Given the description of an element on the screen output the (x, y) to click on. 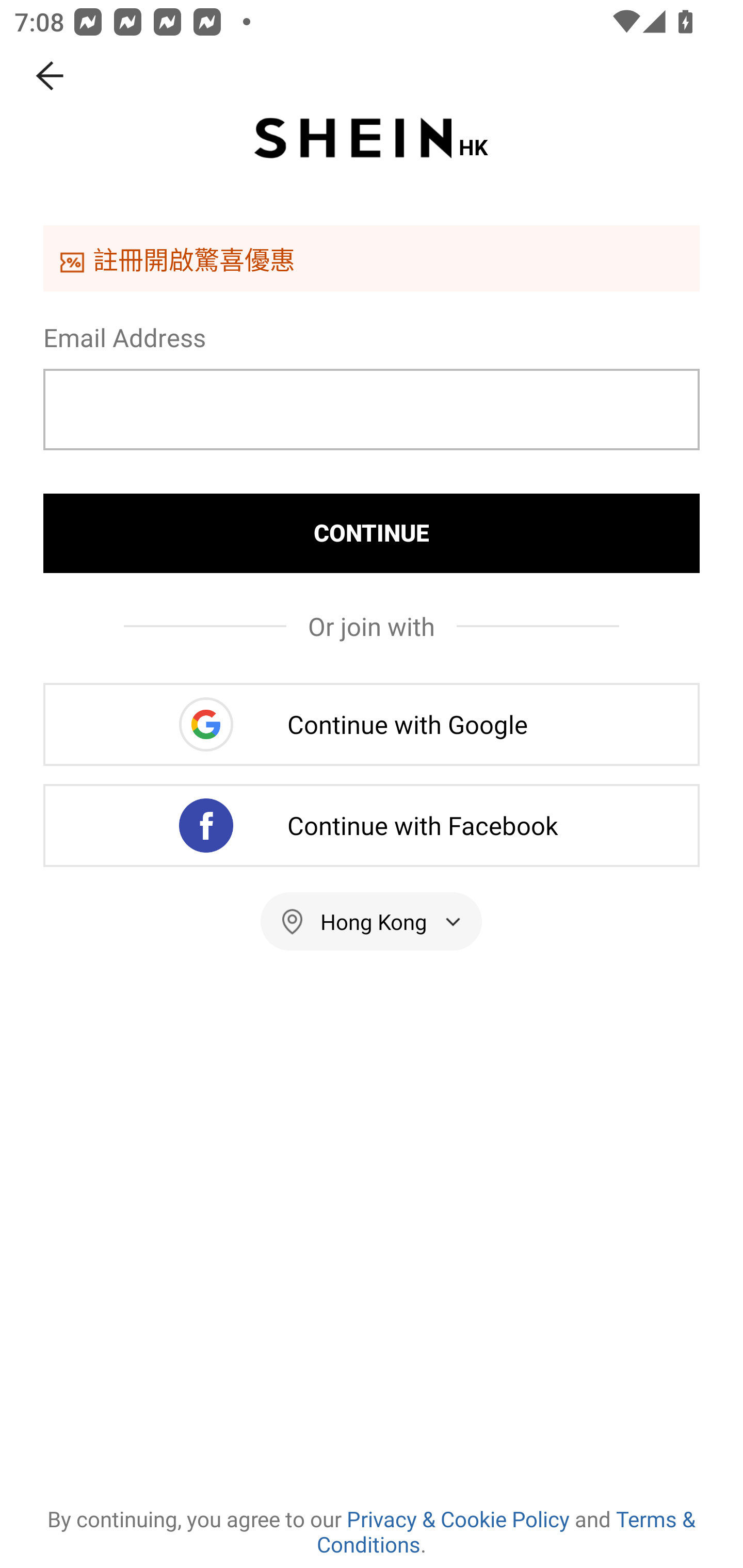
CLOSE (50, 75)
CONTINUE (371, 532)
Continue with Google (371, 724)
Continue with Facebook (371, 825)
Hong Kong (371, 921)
